Given the description of an element on the screen output the (x, y) to click on. 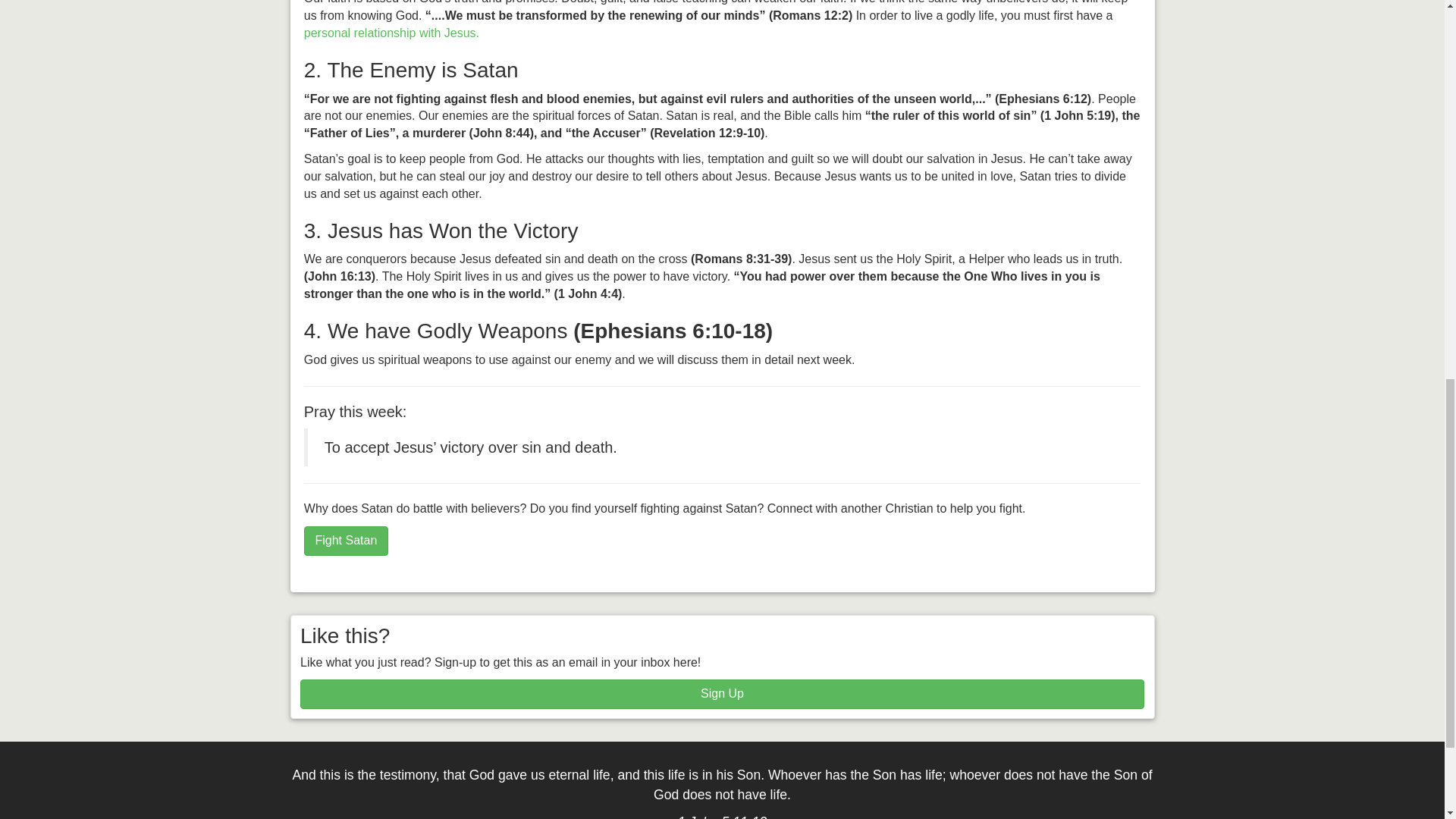
Sign Up (721, 694)
Fight Satan (346, 541)
personal relationship with Jesus. (391, 32)
